Given the description of an element on the screen output the (x, y) to click on. 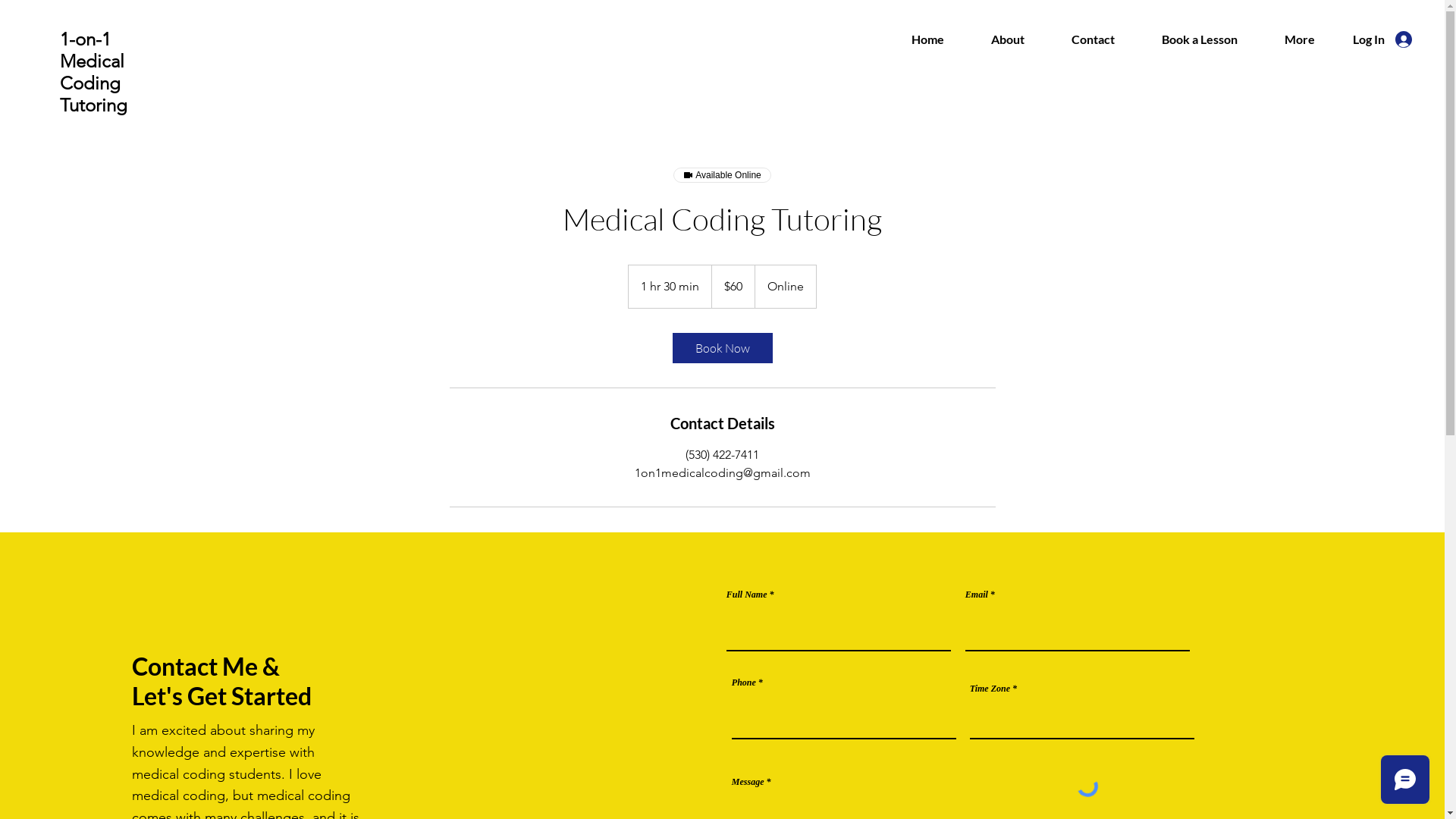
1-on-1 Element type: text (84, 39)
About Element type: text (1007, 39)
Log In Element type: text (1382, 39)
Book Now Element type: text (721, 347)
Medical Coding Tutoring Element type: text (93, 83)
Contact Element type: text (1093, 39)
Book a Lesson Element type: text (1199, 39)
Home Element type: text (927, 39)
